Given the description of an element on the screen output the (x, y) to click on. 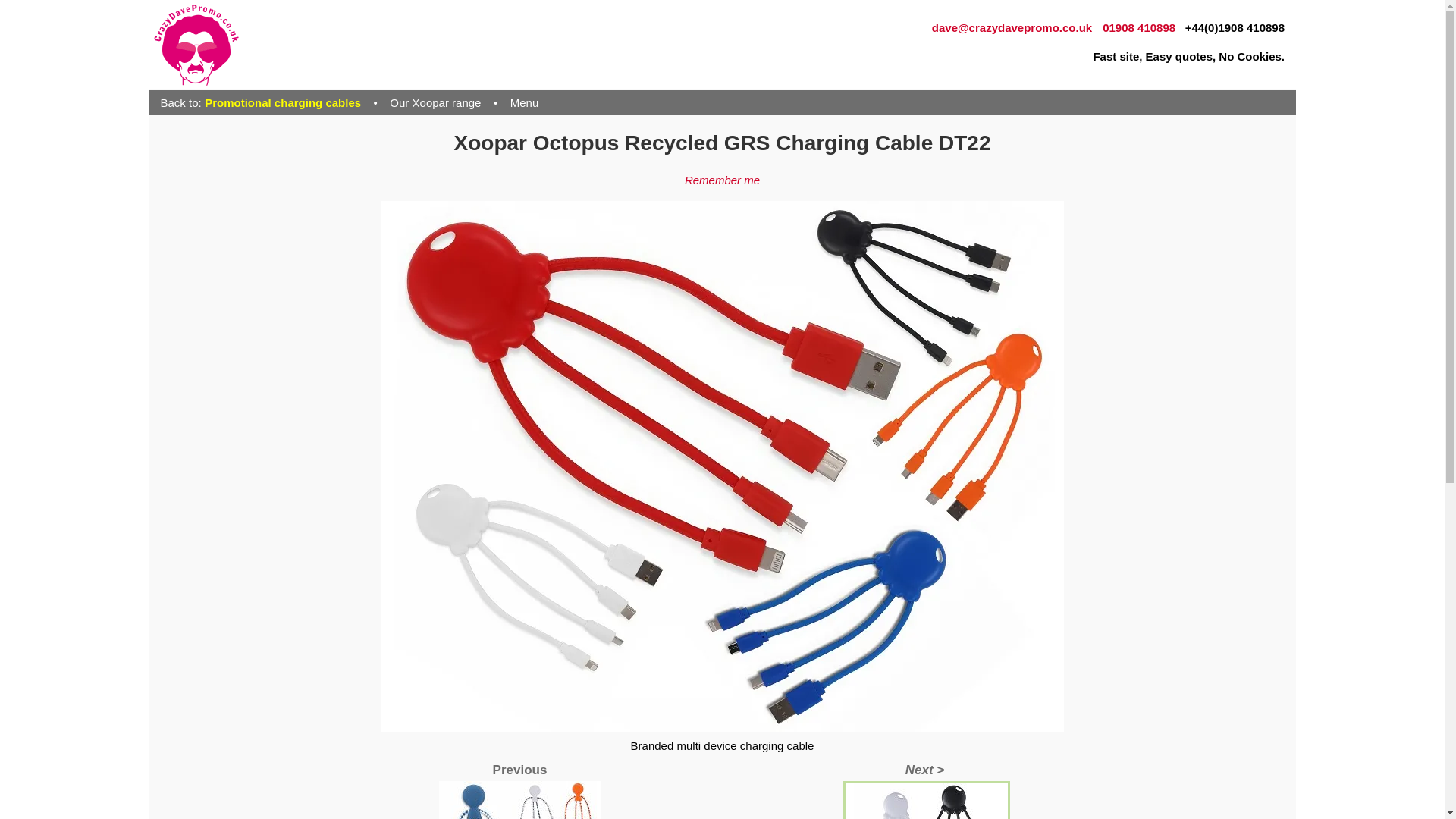
01908 410898 (1138, 27)
Our Xoopar range (435, 101)
Remember me (722, 179)
Promotional charging cables (288, 101)
Menu (524, 101)
